Given the description of an element on the screen output the (x, y) to click on. 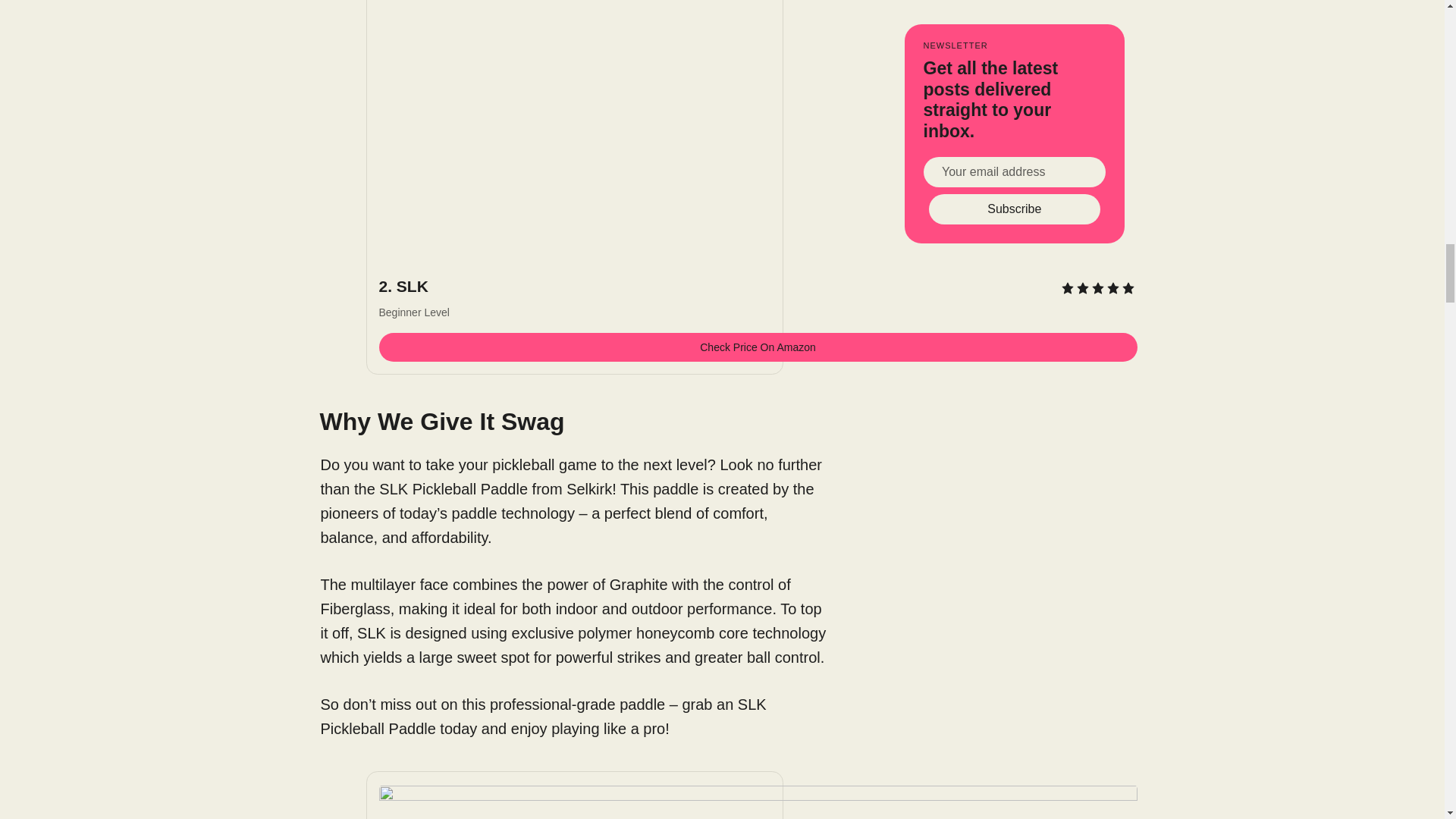
Check Price On Amazon (757, 346)
